Given the description of an element on the screen output the (x, y) to click on. 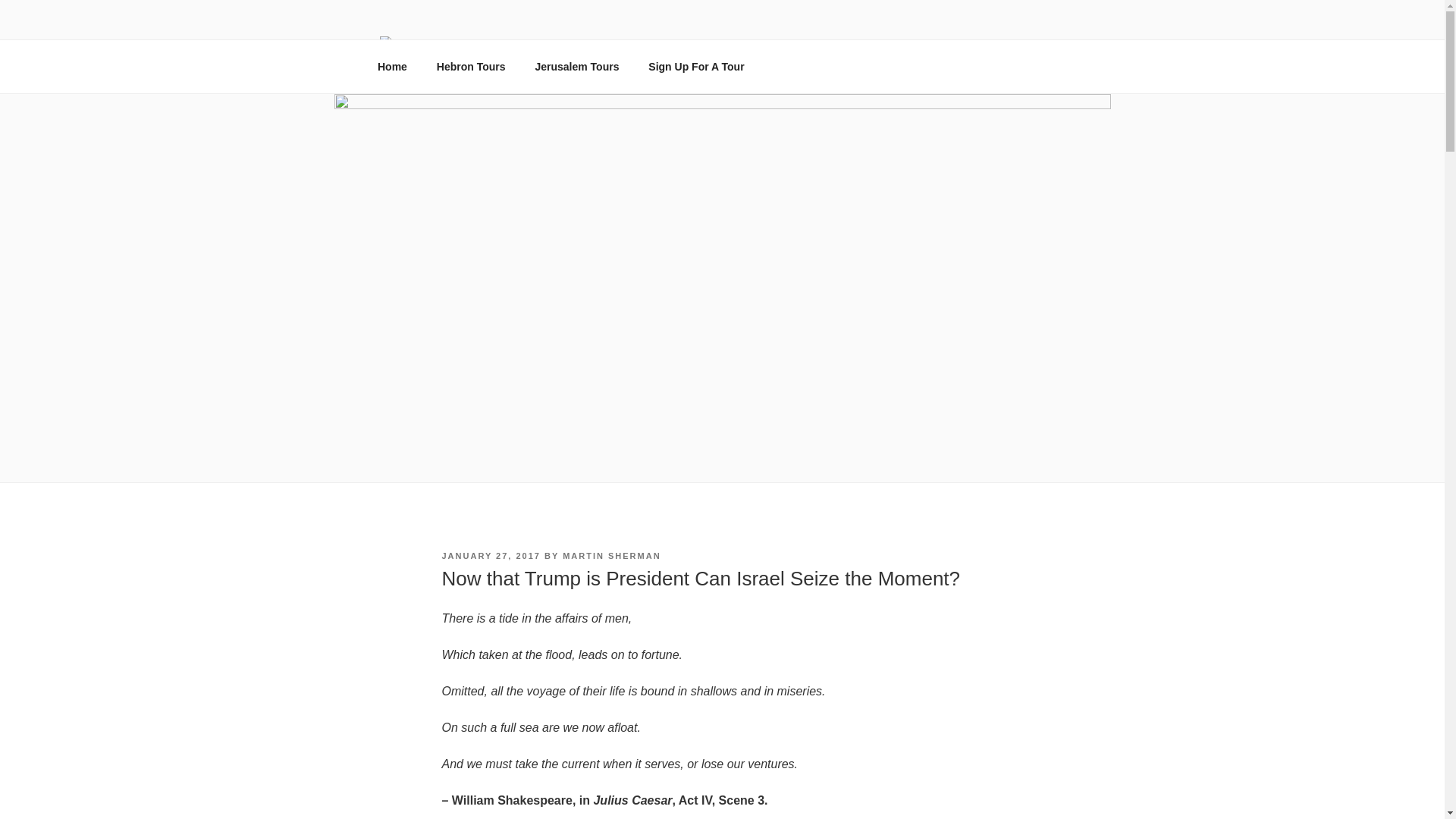
JANUARY 27, 2017 (490, 555)
Home (392, 66)
Hebron Tours (470, 66)
ISRAEL RISING (493, 74)
Sign Up For A Tour (695, 66)
Jerusalem Tours (576, 66)
MARTIN SHERMAN (611, 555)
